Given the description of an element on the screen output the (x, y) to click on. 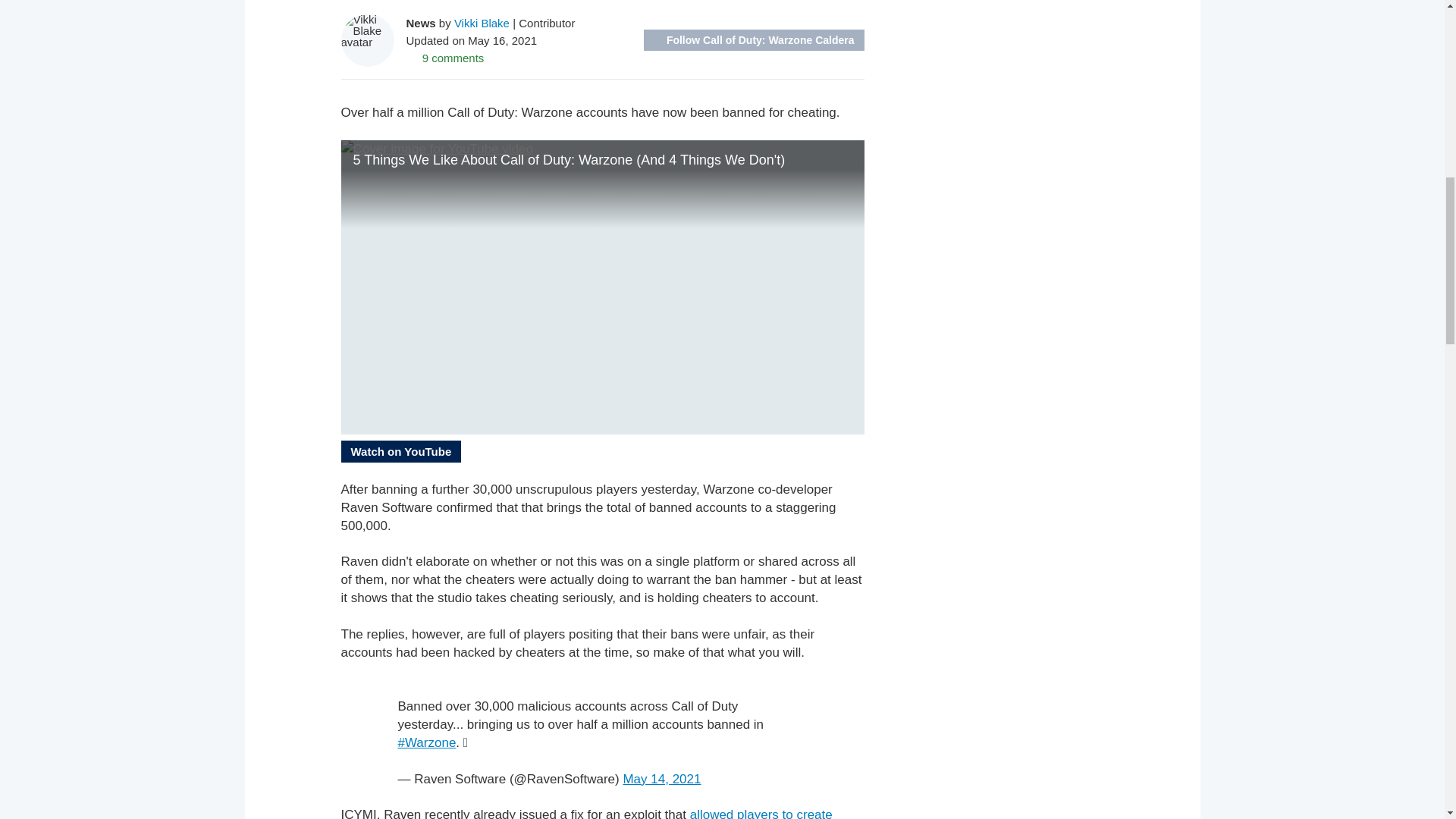
allowed players to create unbreakable gas masks (586, 813)
Watch on YouTube (400, 451)
Vikki Blake (481, 22)
9 comments (445, 57)
May 14, 2021 (661, 779)
Follow Call of Duty: Warzone Caldera (753, 39)
